Given the description of an element on the screen output the (x, y) to click on. 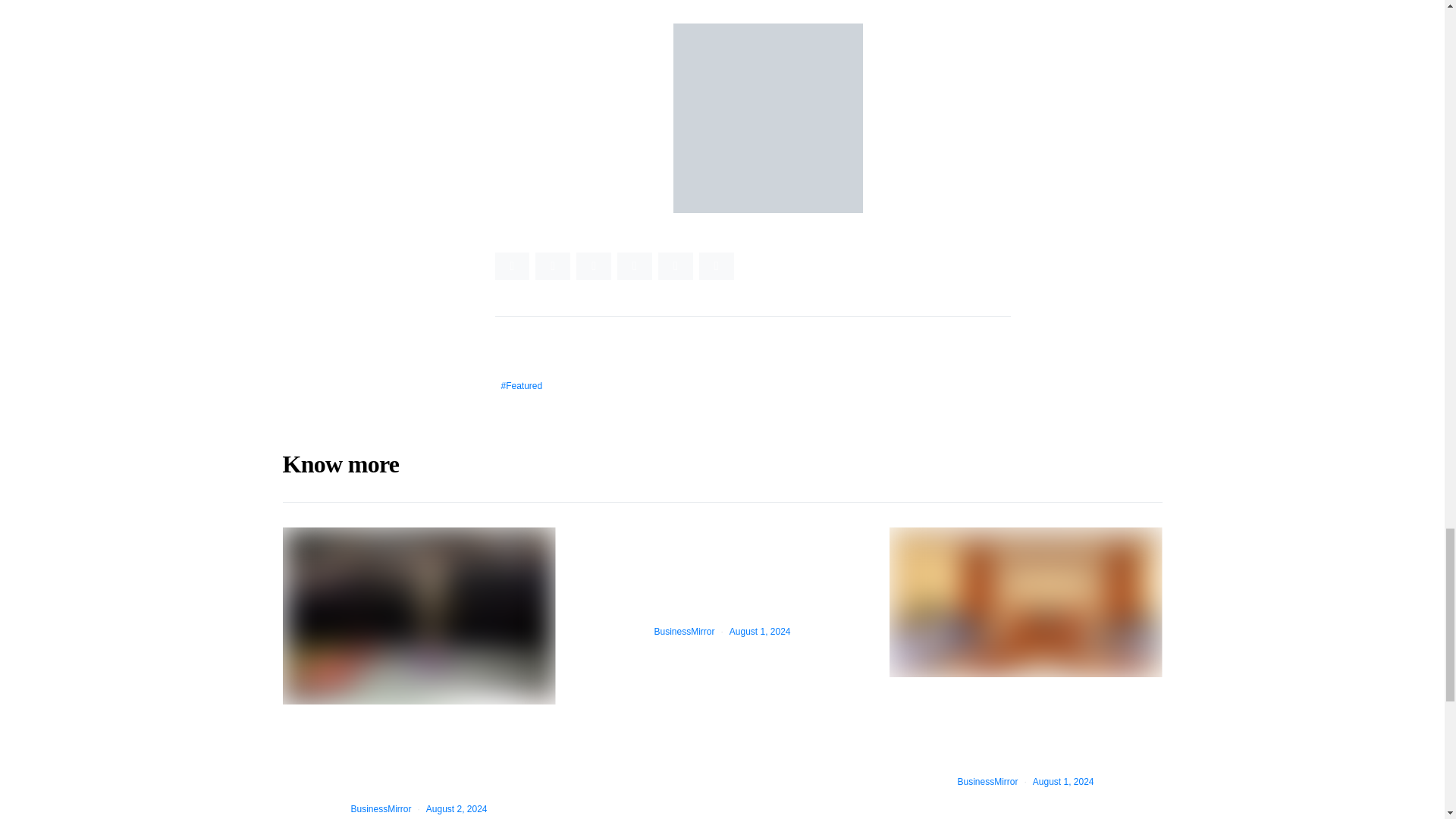
View all posts by BusinessMirror (986, 781)
View all posts by BusinessMirror (380, 808)
View all posts by BusinessMirror (683, 631)
